Given the description of an element on the screen output the (x, y) to click on. 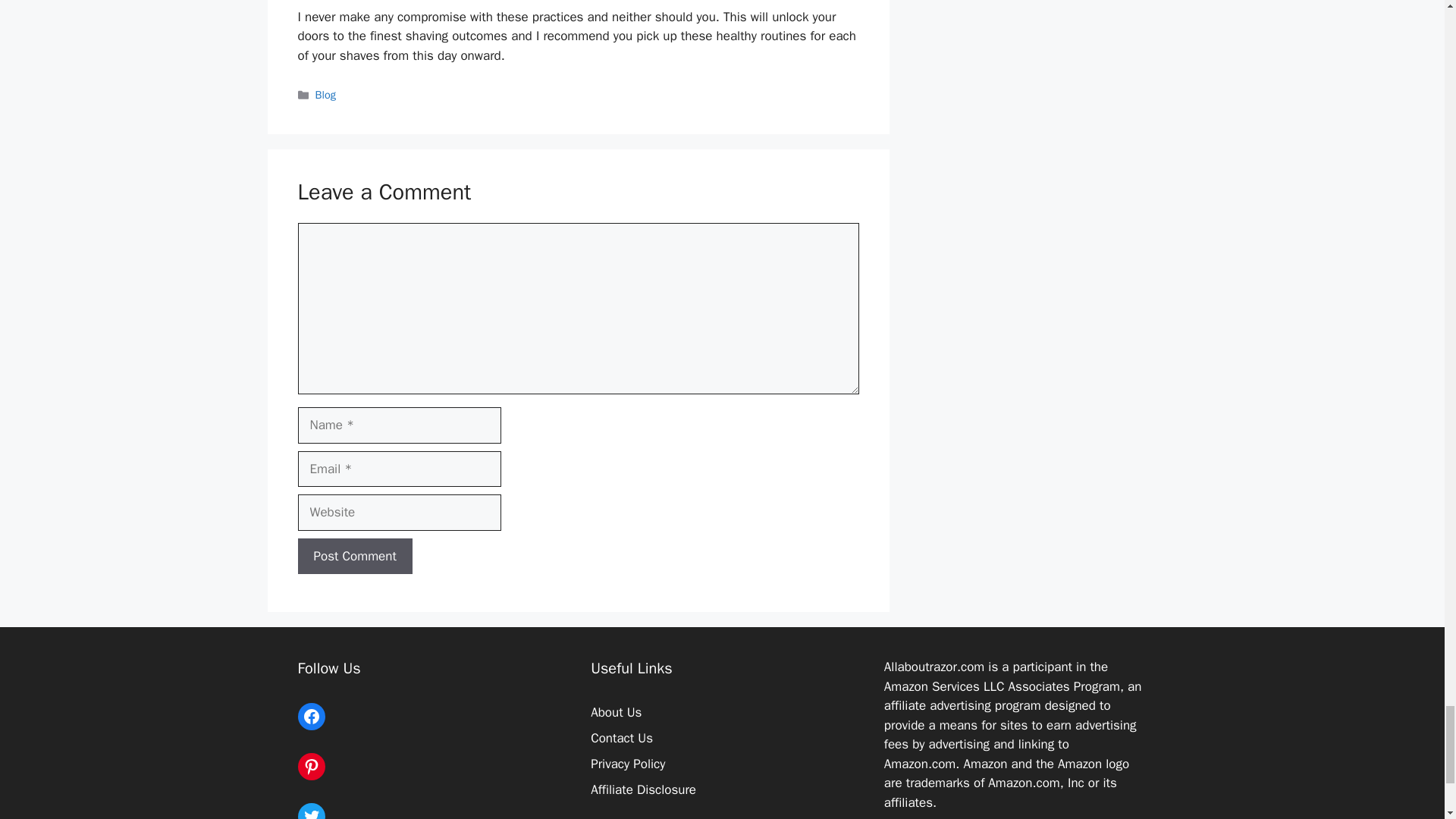
Blog (325, 94)
Contact Us (621, 738)
Affiliate Disclosure (643, 789)
Facebook (310, 716)
Privacy Policy (628, 763)
Privacy Policy (628, 763)
About Us (616, 712)
About Us (616, 712)
Pinterest (310, 766)
Contact Us (621, 738)
Post Comment (354, 556)
Post Comment (354, 556)
Affiliate Disclosure (643, 789)
Twitter (310, 811)
